Given the description of an element on the screen output the (x, y) to click on. 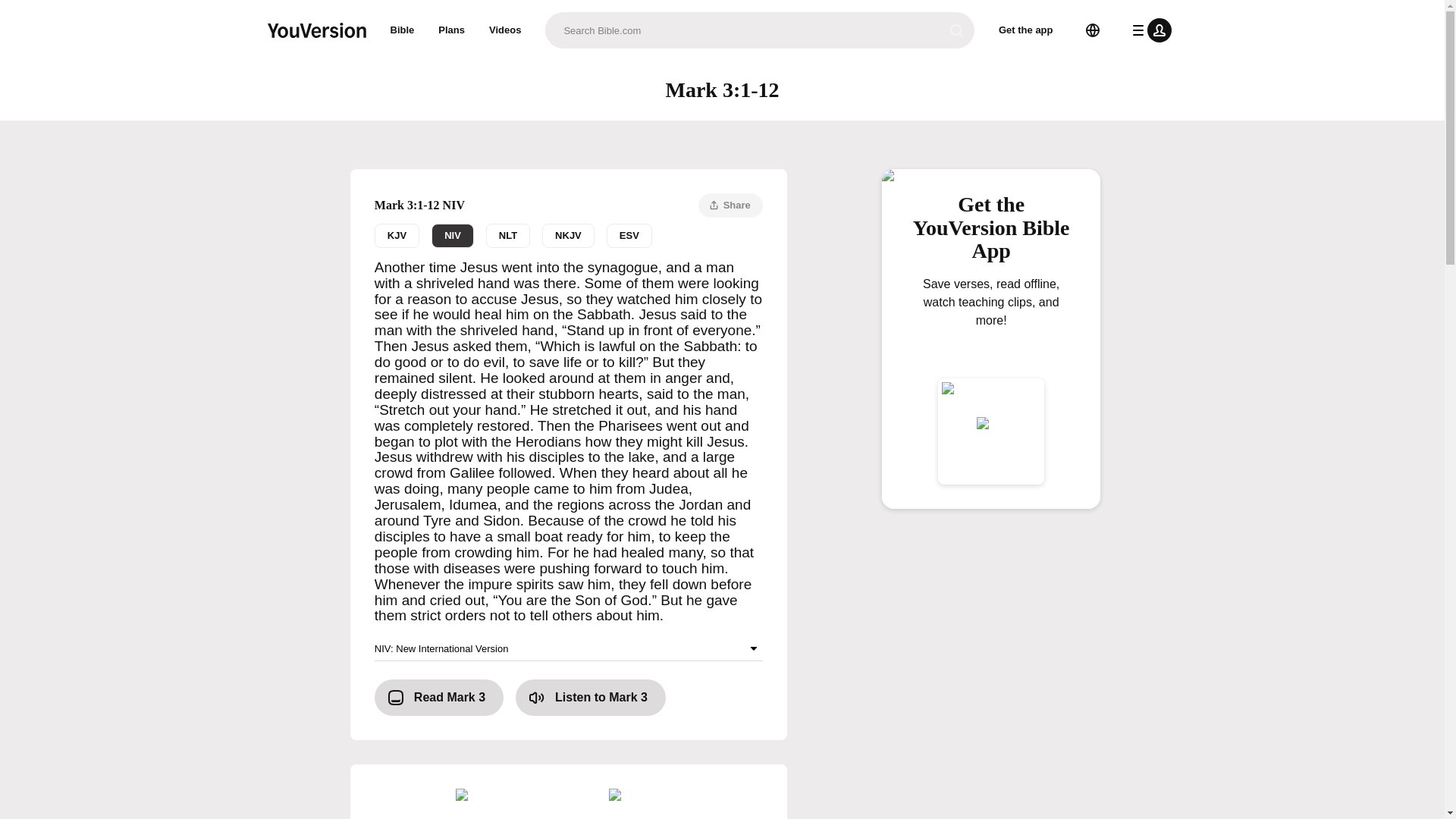
Share (730, 205)
KJV (396, 235)
Plans (451, 29)
Save verses, read offline, watch teaching clips, and more! (568, 235)
Read Mark 3 (991, 326)
Videos (438, 697)
NKJV (504, 29)
ESV (567, 235)
Get the YouVersion Bible App (629, 235)
NIV: New International Version (991, 234)
Bible App for Kids (568, 648)
NLT (642, 803)
Bible (507, 235)
Get the app (401, 29)
